Given the description of an element on the screen output the (x, y) to click on. 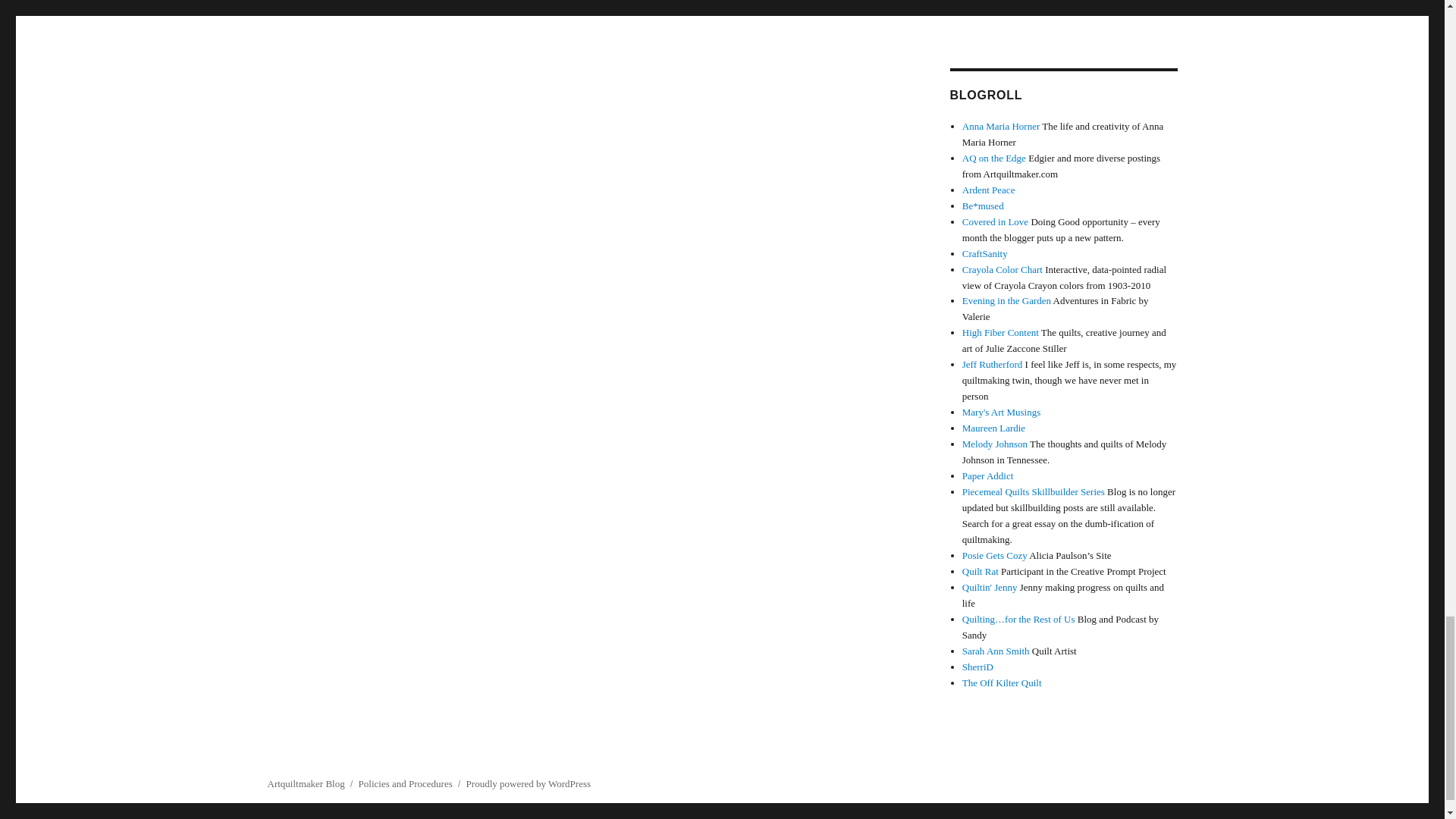
Edgier and more diverse postings from Artquiltmaker.com (994, 157)
The life and creativity of Anna Maria Horner (1001, 125)
The thoughts and quilts of Melody Johnson in Tennessee. (994, 443)
Adventures in Fabric by Valerie (1006, 300)
